Given the description of an element on the screen output the (x, y) to click on. 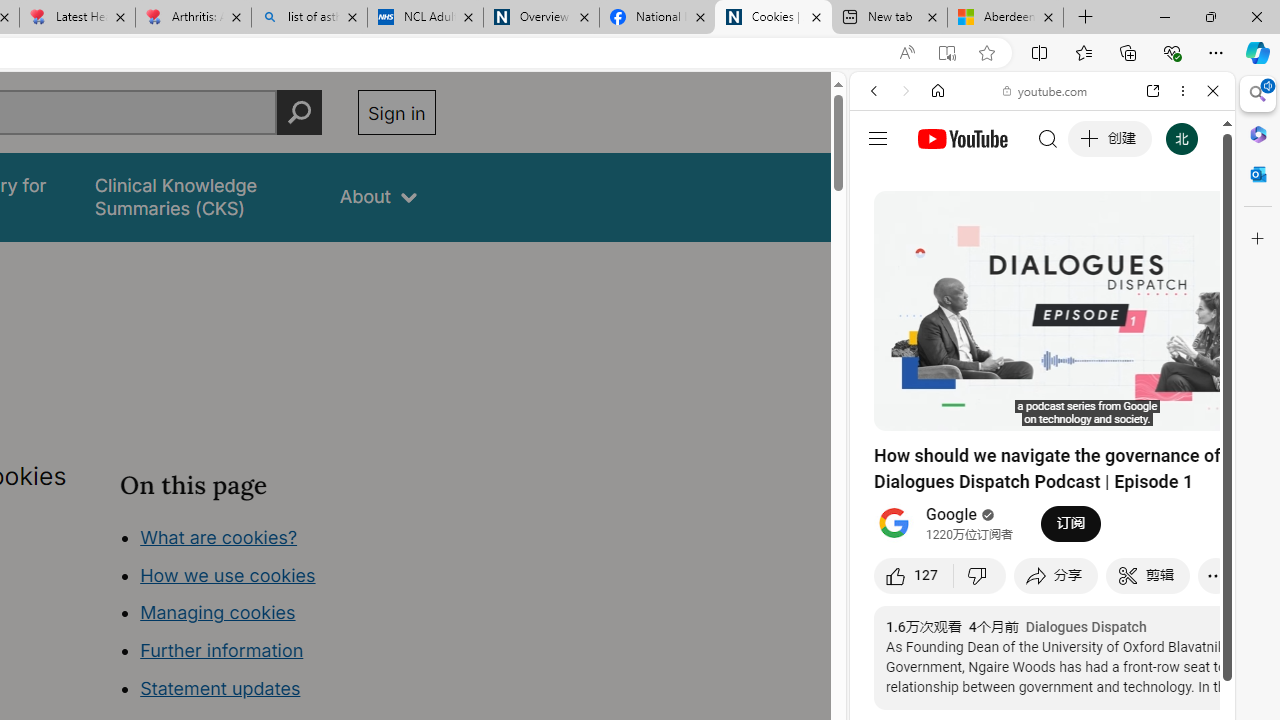
Perform search (299, 112)
YouTube (1034, 296)
Statement updates (219, 688)
Search Filter, Search Tools (1093, 228)
Further information (221, 650)
